Given the description of an element on the screen output the (x, y) to click on. 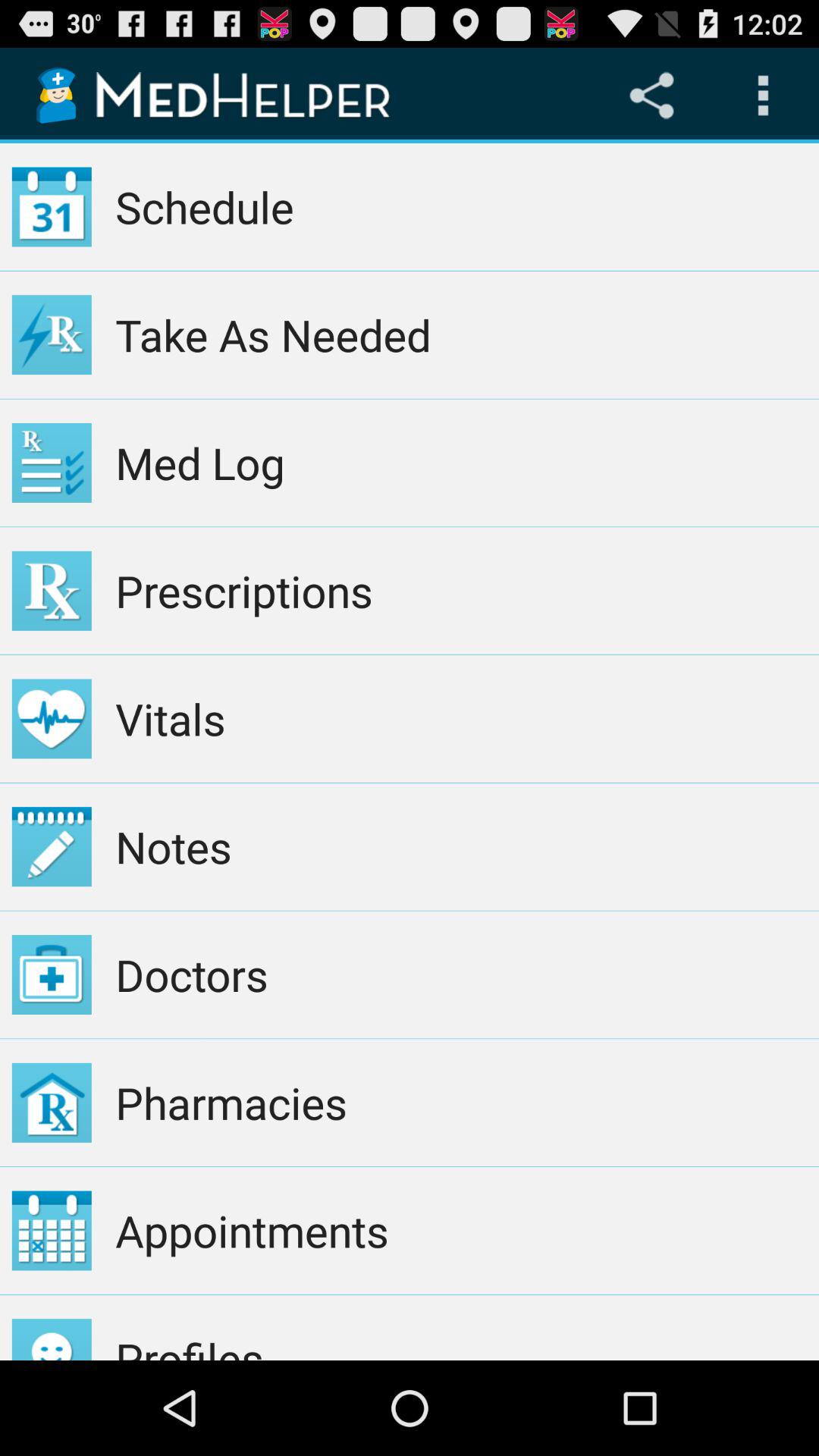
flip to the med log (461, 462)
